Given the description of an element on the screen output the (x, y) to click on. 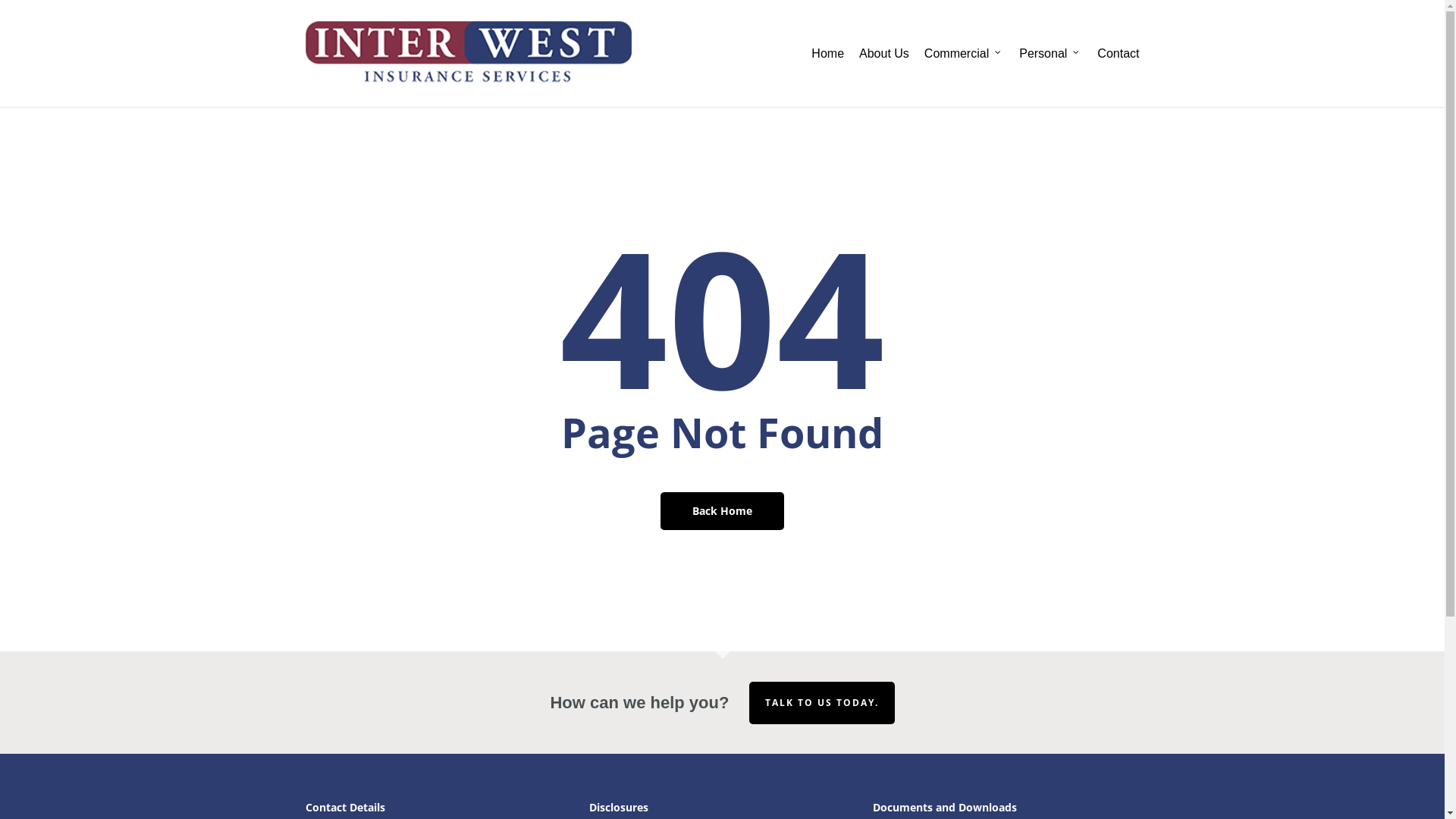
Home Element type: text (827, 53)
Commercial Element type: text (964, 53)
Back Home Element type: text (722, 511)
Personal Element type: text (1050, 53)
TALK TO US TODAY. Element type: text (821, 702)
About Us Element type: text (884, 53)
Contact Element type: text (1118, 53)
